Given the description of an element on the screen output the (x, y) to click on. 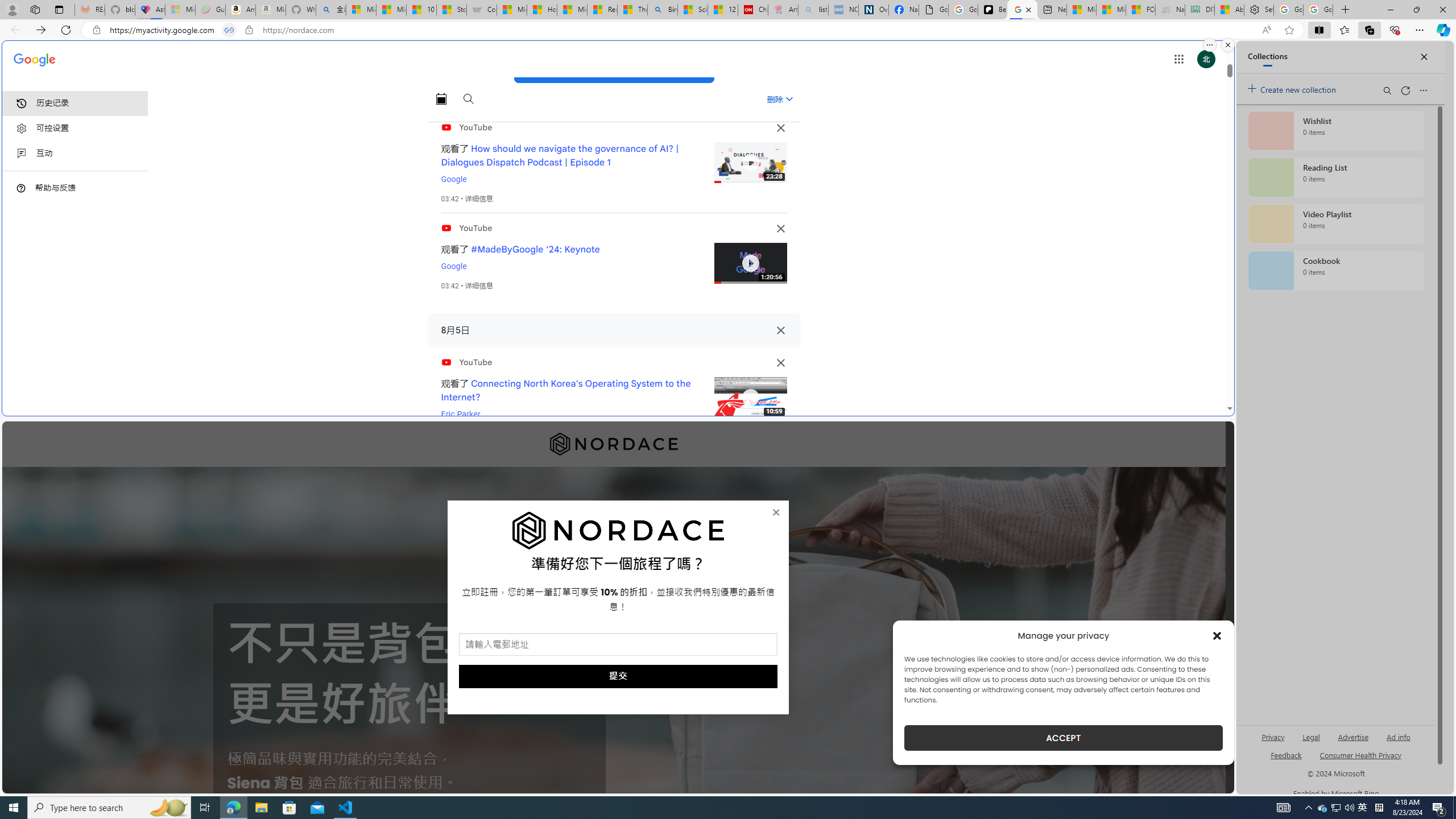
Close split screen. (1227, 45)
list of asthma inhalers uk - Search - Sleeping (812, 9)
Forward (40, 29)
Class: i2GIId (21, 153)
12 Popular Science Lies that Must be Corrected (722, 9)
Class: TjcpUd NMm5M (780, 362)
